Given the description of an element on the screen output the (x, y) to click on. 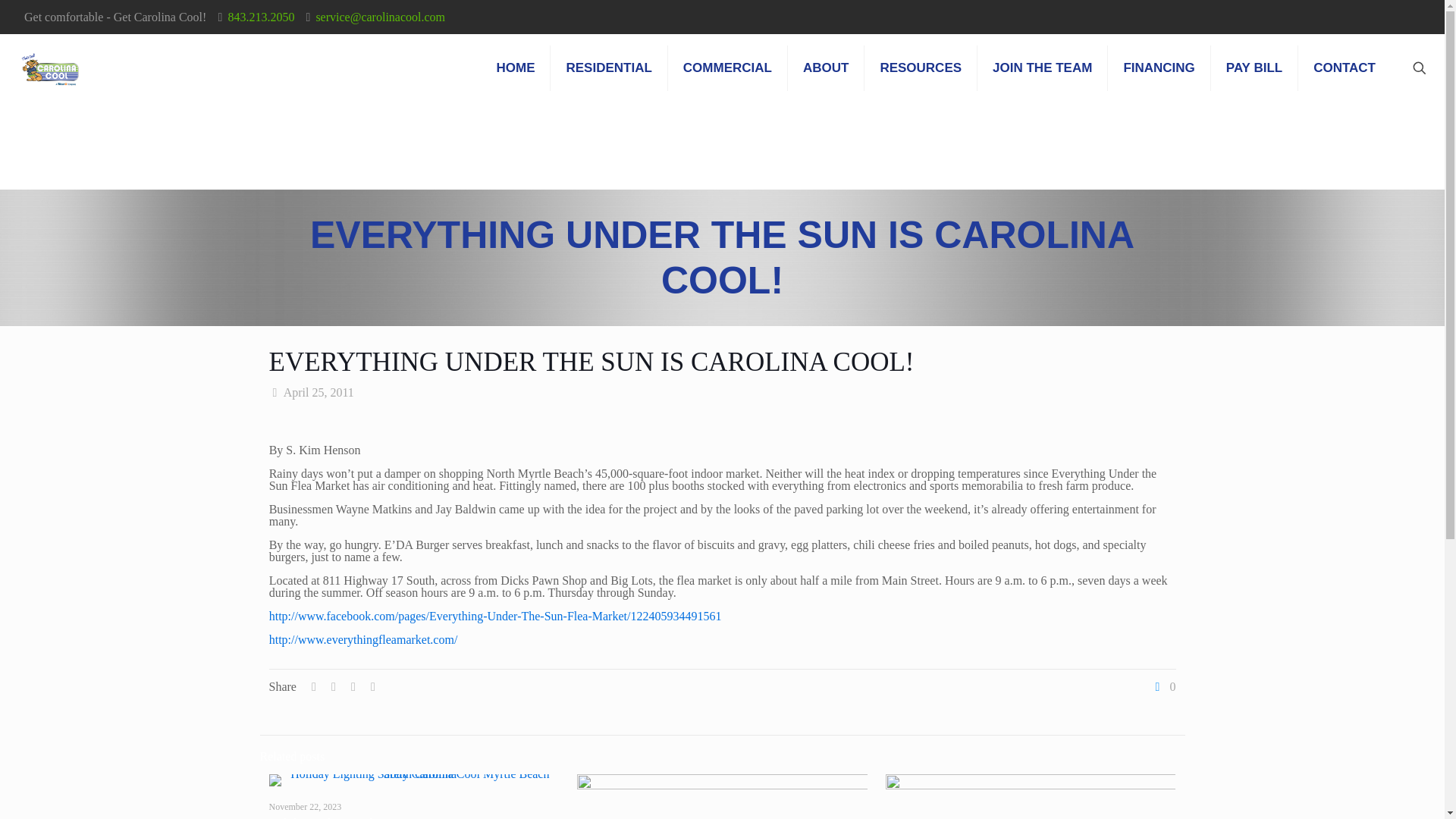
RESIDENTIAL (608, 68)
HOME (515, 68)
843.213.2050 (260, 16)
Carolina Cool (49, 68)
COMMERCIAL (727, 68)
ABOUT (825, 68)
